Given the description of an element on the screen output the (x, y) to click on. 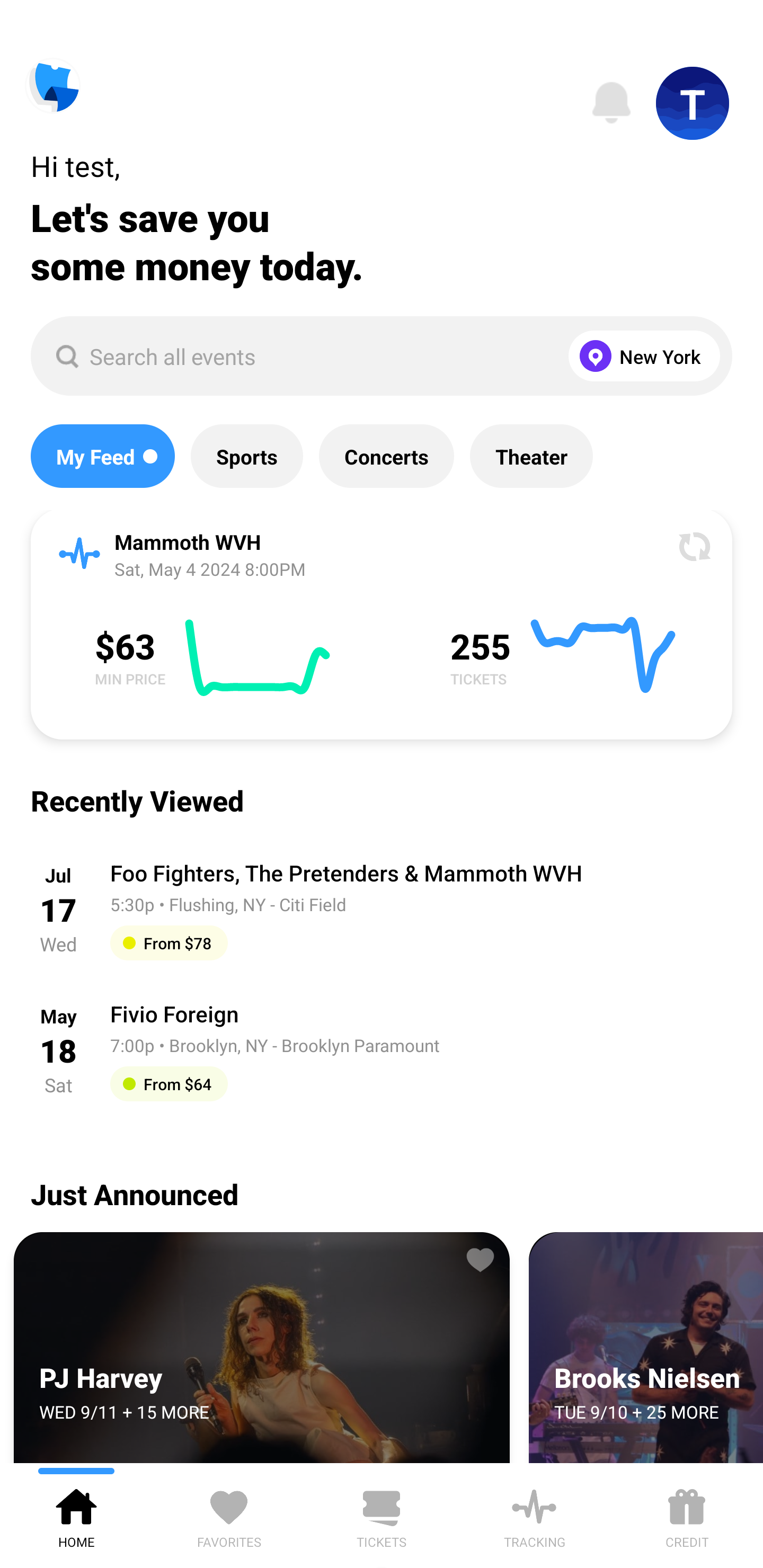
T (692, 103)
New York (640, 355)
My Feed (102, 455)
Sports (246, 455)
Concerts (385, 455)
Theater (531, 455)
HOME (76, 1515)
FAVORITES (228, 1515)
TICKETS (381, 1515)
TRACKING (533, 1515)
CREDIT (686, 1515)
